Given the description of an element on the screen output the (x, y) to click on. 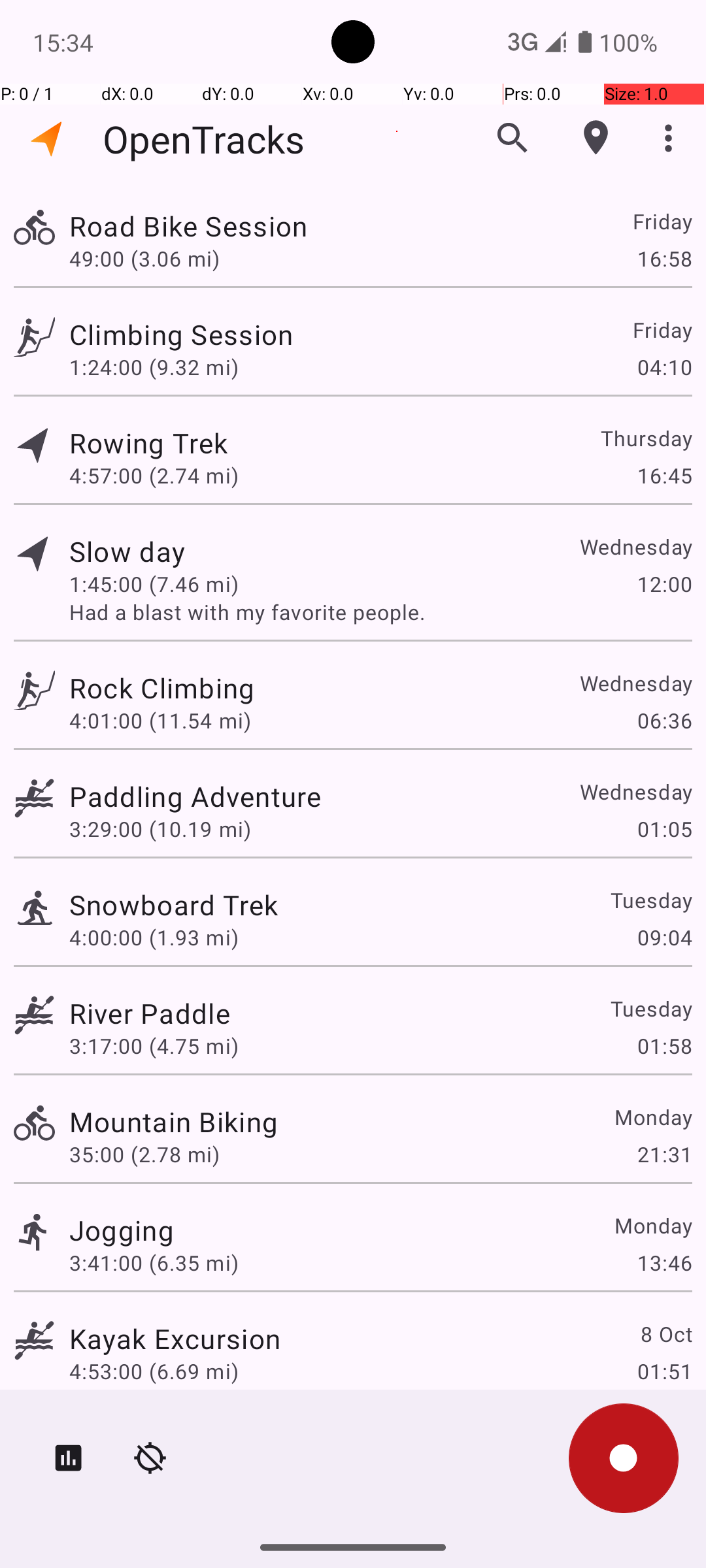
Road Bike Session Element type: android.widget.TextView (187, 225)
49:00 (3.06 mi) Element type: android.widget.TextView (144, 258)
16:58 Element type: android.widget.TextView (664, 258)
Climbing Session Element type: android.widget.TextView (180, 333)
1:24:00 (9.32 mi) Element type: android.widget.TextView (153, 366)
04:10 Element type: android.widget.TextView (664, 366)
Rowing Trek Element type: android.widget.TextView (148, 442)
4:57:00 (2.74 mi) Element type: android.widget.TextView (153, 475)
16:45 Element type: android.widget.TextView (664, 475)
Slow day Element type: android.widget.TextView (126, 550)
1:45:00 (7.46 mi) Element type: android.widget.TextView (153, 583)
12:00 Element type: android.widget.TextView (664, 583)
Had a blast with my favorite people. Element type: android.widget.TextView (380, 611)
Rock Climbing Element type: android.widget.TextView (161, 687)
4:01:00 (11.54 mi) Element type: android.widget.TextView (159, 720)
06:36 Element type: android.widget.TextView (664, 720)
Paddling Adventure Element type: android.widget.TextView (194, 795)
3:29:00 (10.19 mi) Element type: android.widget.TextView (159, 828)
01:05 Element type: android.widget.TextView (664, 828)
Snowboard Trek Element type: android.widget.TextView (173, 904)
4:00:00 (1.93 mi) Element type: android.widget.TextView (153, 937)
09:04 Element type: android.widget.TextView (664, 937)
River Paddle Element type: android.widget.TextView (149, 1012)
3:17:00 (4.75 mi) Element type: android.widget.TextView (153, 1045)
01:58 Element type: android.widget.TextView (664, 1045)
Mountain Biking Element type: android.widget.TextView (173, 1121)
35:00 (2.78 mi) Element type: android.widget.TextView (144, 1154)
21:31 Element type: android.widget.TextView (664, 1154)
Jogging Element type: android.widget.TextView (121, 1229)
3:41:00 (6.35 mi) Element type: android.widget.TextView (153, 1262)
13:46 Element type: android.widget.TextView (664, 1262)
Kayak Excursion Element type: android.widget.TextView (174, 1337)
8 Oct Element type: android.widget.TextView (665, 1333)
4:53:00 (6.69 mi) Element type: android.widget.TextView (153, 1370)
01:51 Element type: android.widget.TextView (664, 1370)
